Given the description of an element on the screen output the (x, y) to click on. 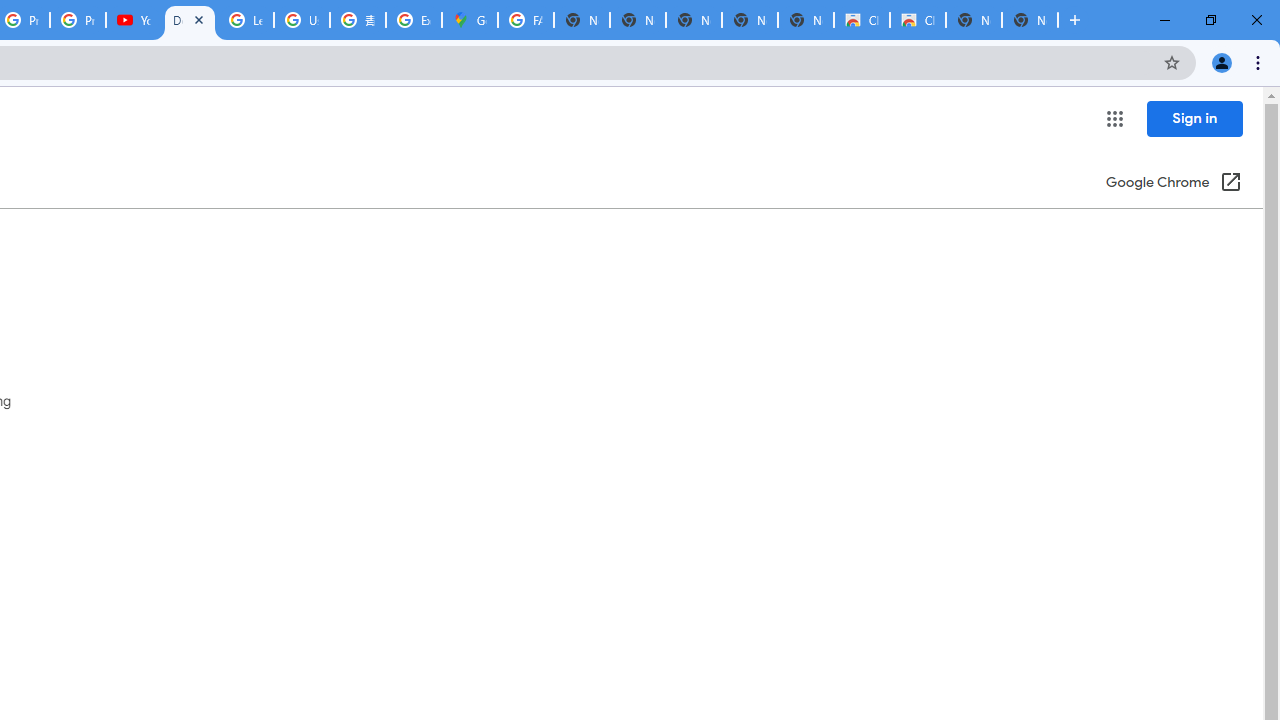
Explore new street-level details - Google Maps Help (413, 20)
Google Chrome (Open in a new window) (1173, 183)
Privacy Checkup (77, 20)
Classic Blue - Chrome Web Store (917, 20)
Classic Blue - Chrome Web Store (861, 20)
